Given the description of an element on the screen output the (x, y) to click on. 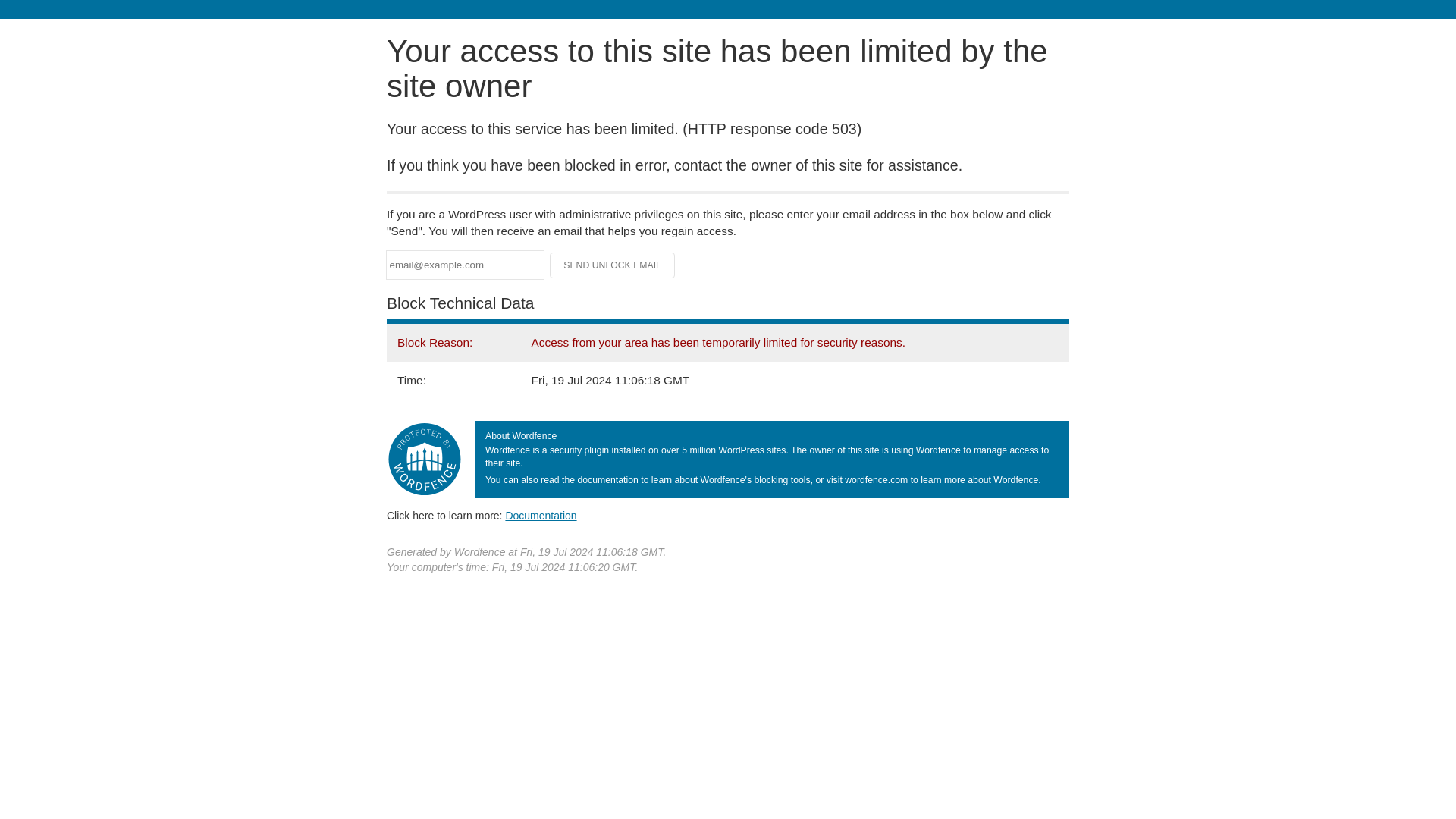
Send Unlock Email (612, 265)
Send Unlock Email (612, 265)
Documentation (540, 515)
